Given the description of an element on the screen output the (x, y) to click on. 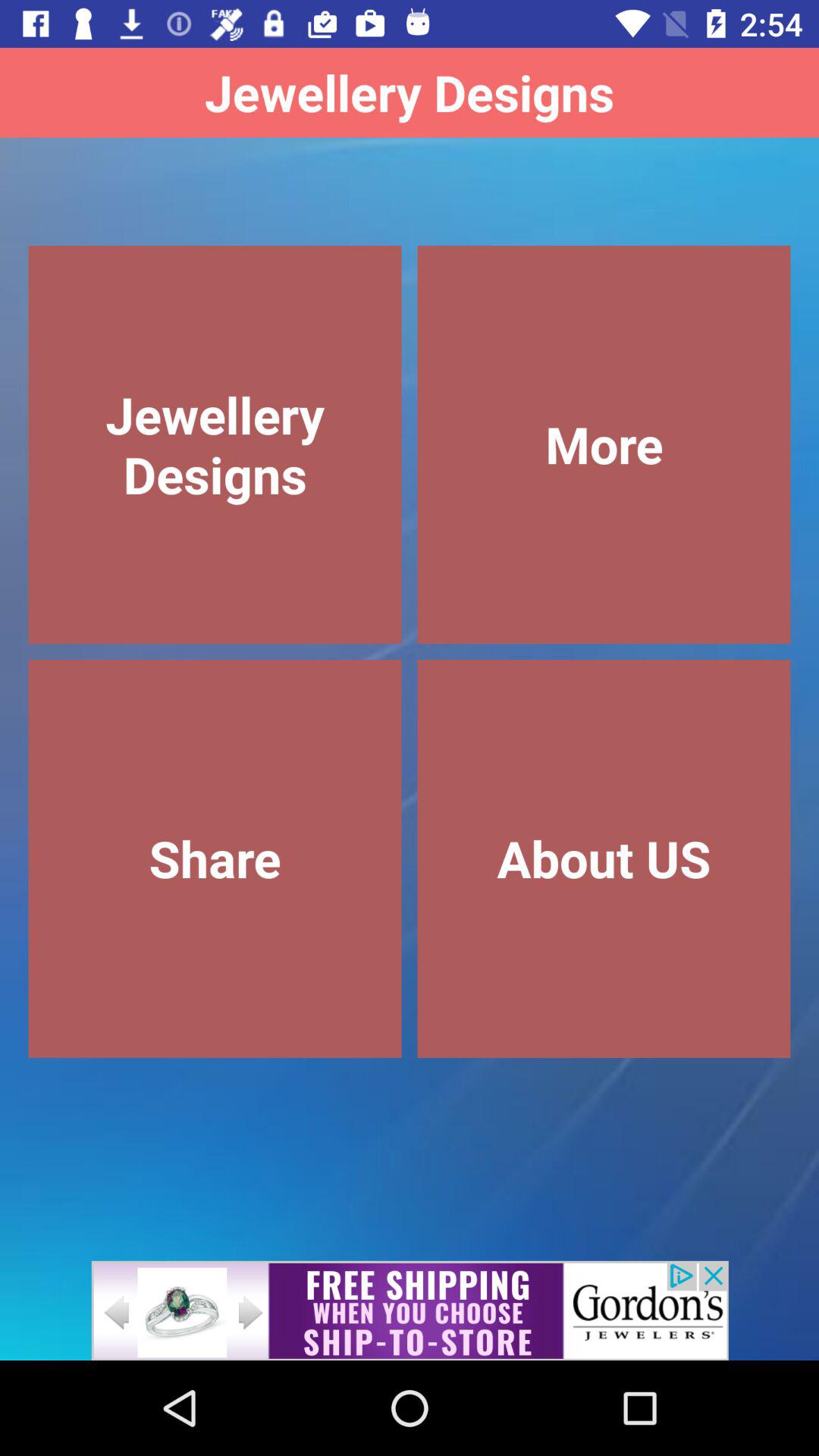
advertisement link (409, 1310)
